Given the description of an element on the screen output the (x, y) to click on. 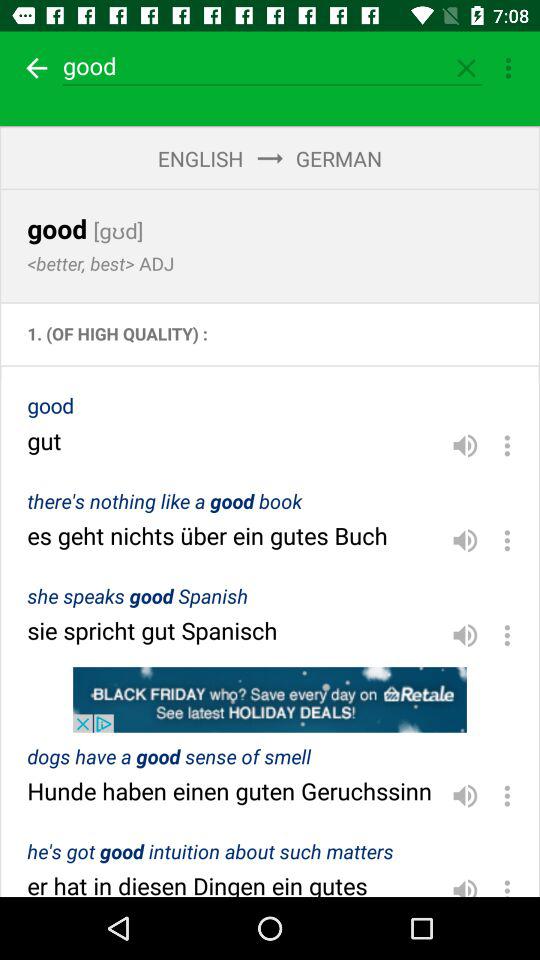
volume button (465, 635)
